Given the description of an element on the screen output the (x, y) to click on. 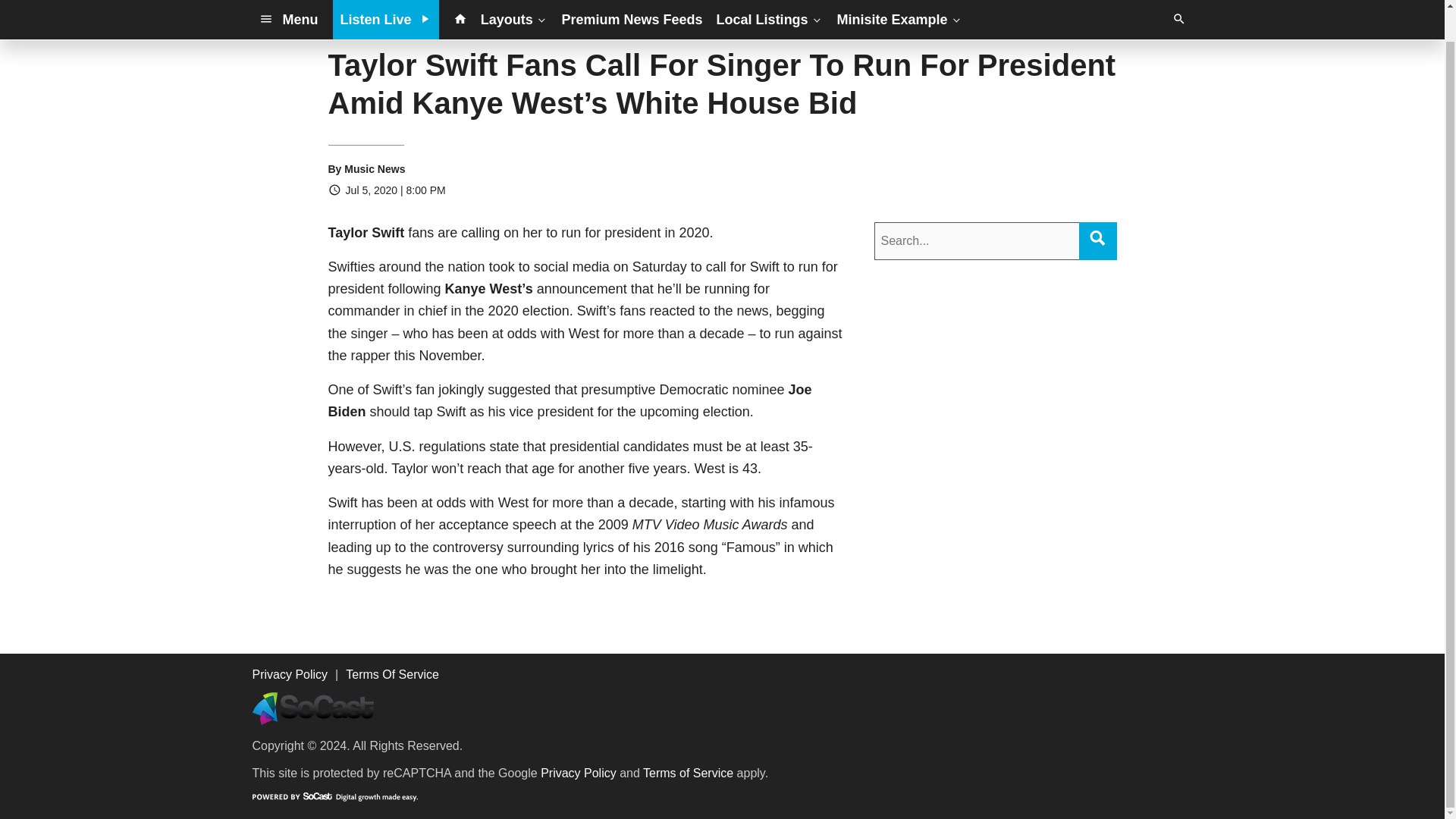
Search (1097, 237)
Listen Live (386, 3)
Powered By SoCast (333, 796)
